Given the description of an element on the screen output the (x, y) to click on. 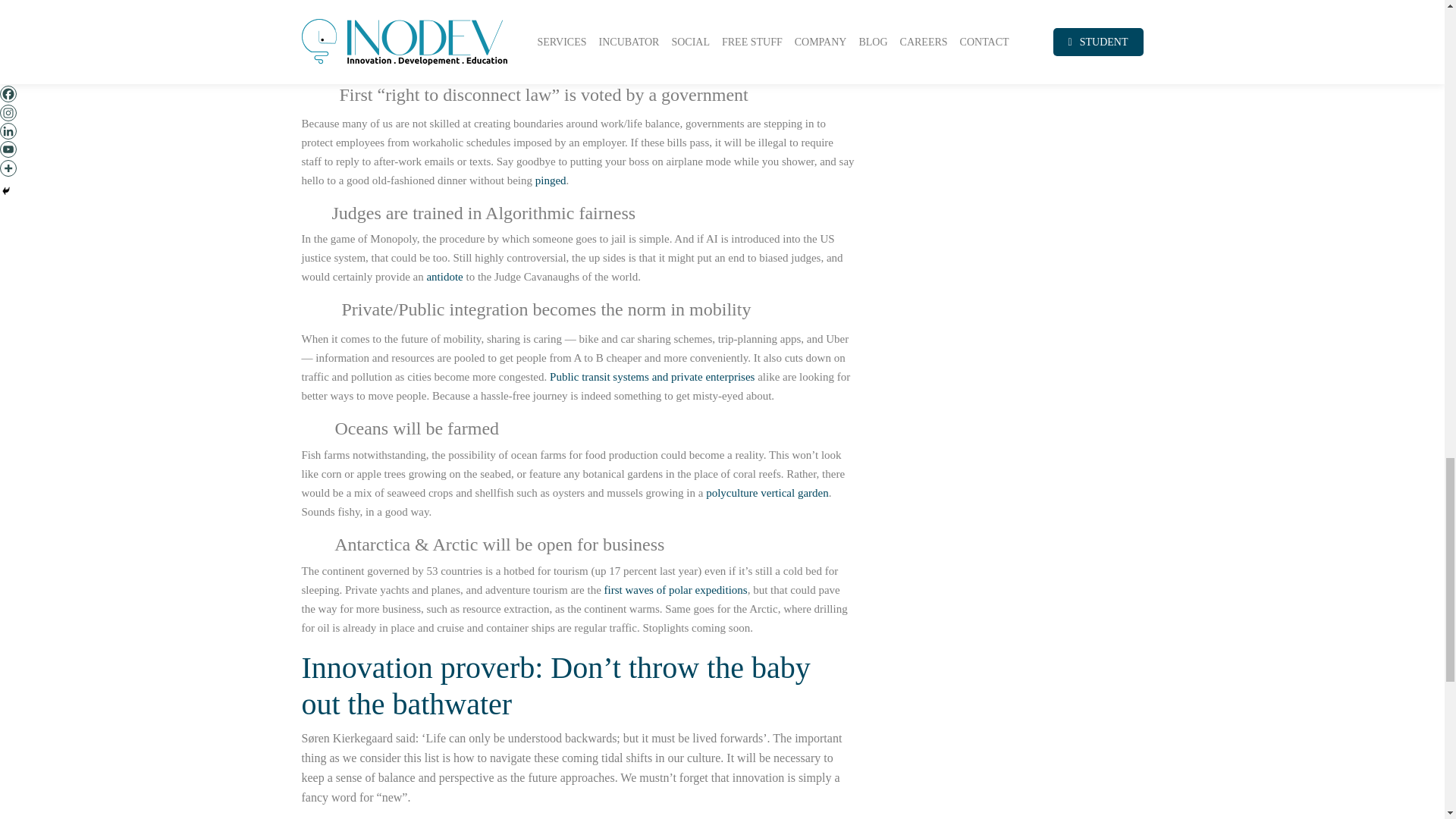
Talkspace (614, 42)
Calm (421, 24)
Headspace (362, 24)
